Given the description of an element on the screen output the (x, y) to click on. 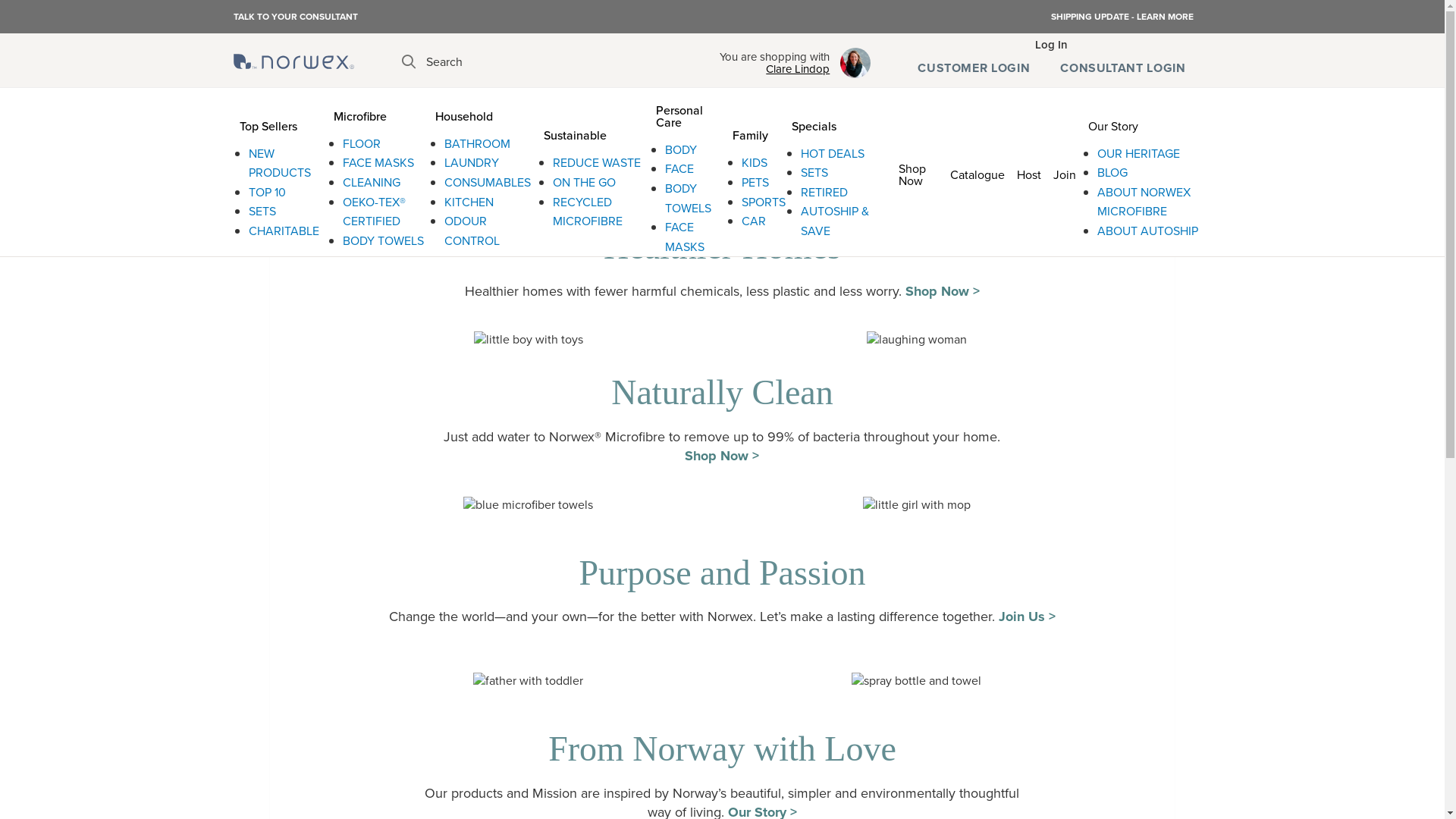
SPORTS Element type: text (763, 201)
Shop Now Element type: text (918, 172)
CHARITABLE Element type: text (283, 230)
FACE MASKS Element type: text (378, 162)
Our Story Element type: text (1146, 123)
Search Element type: text (431, 61)
BODY TOWELS Element type: text (688, 197)
FLOOR Element type: text (361, 143)
SETS Element type: text (814, 172)
CONSUMABLES Element type: text (487, 182)
FACE MASKS Element type: text (684, 236)
Top Sellers Element type: text (280, 123)
Specials Element type: text (831, 123)
AUTOSHIP & SAVE Element type: text (834, 220)
Personal Care Element type: text (687, 113)
SETS Element type: text (262, 210)
KIDS Element type: text (754, 162)
ON THE GO Element type: text (583, 182)
REDUCE WASTE Element type: text (596, 162)
Join Element type: text (1064, 172)
BODY TOWELS Element type: text (382, 240)
Catalogue Element type: text (977, 172)
RETIRED Element type: text (823, 191)
ABOUT AUTOSHIP Element type: text (1147, 230)
CLEANING Element type: text (371, 182)
KITCHEN Element type: text (468, 201)
Sustainable Element type: text (593, 132)
Household Element type: text (482, 114)
CONSULTANT LOGIN Element type: text (1122, 68)
BLOG Element type: text (1112, 172)
FACE Element type: text (679, 168)
Host Element type: text (1028, 172)
CUSTOMER LOGIN Element type: text (973, 68)
PETS Element type: text (754, 182)
OUR HERITAGE Element type: text (1138, 153)
NEW PRODUCTS Element type: text (279, 163)
BODY Element type: text (680, 149)
HOT DEALS Element type: text (832, 153)
TOP 10 Element type: text (266, 191)
Family Element type: text (755, 132)
BATHROOM Element type: text (477, 143)
Join Us > Element type: text (1026, 616)
Microfibre Element type: text (378, 114)
Shop Now > Element type: text (942, 291)
ABOUT NORWEX MICROFIBRE Element type: text (1143, 201)
ODOUR CONTROL Element type: text (471, 230)
Shop Now > Element type: text (721, 455)
SHIPPING UPDATE - LEARN MORE Element type: text (1122, 16)
RECYCLED MICROFIBRE Element type: text (587, 211)
Clare Lindop Element type: text (774, 68)
LAUNDRY Element type: text (471, 162)
CAR Element type: text (753, 220)
